Given the description of an element on the screen output the (x, y) to click on. 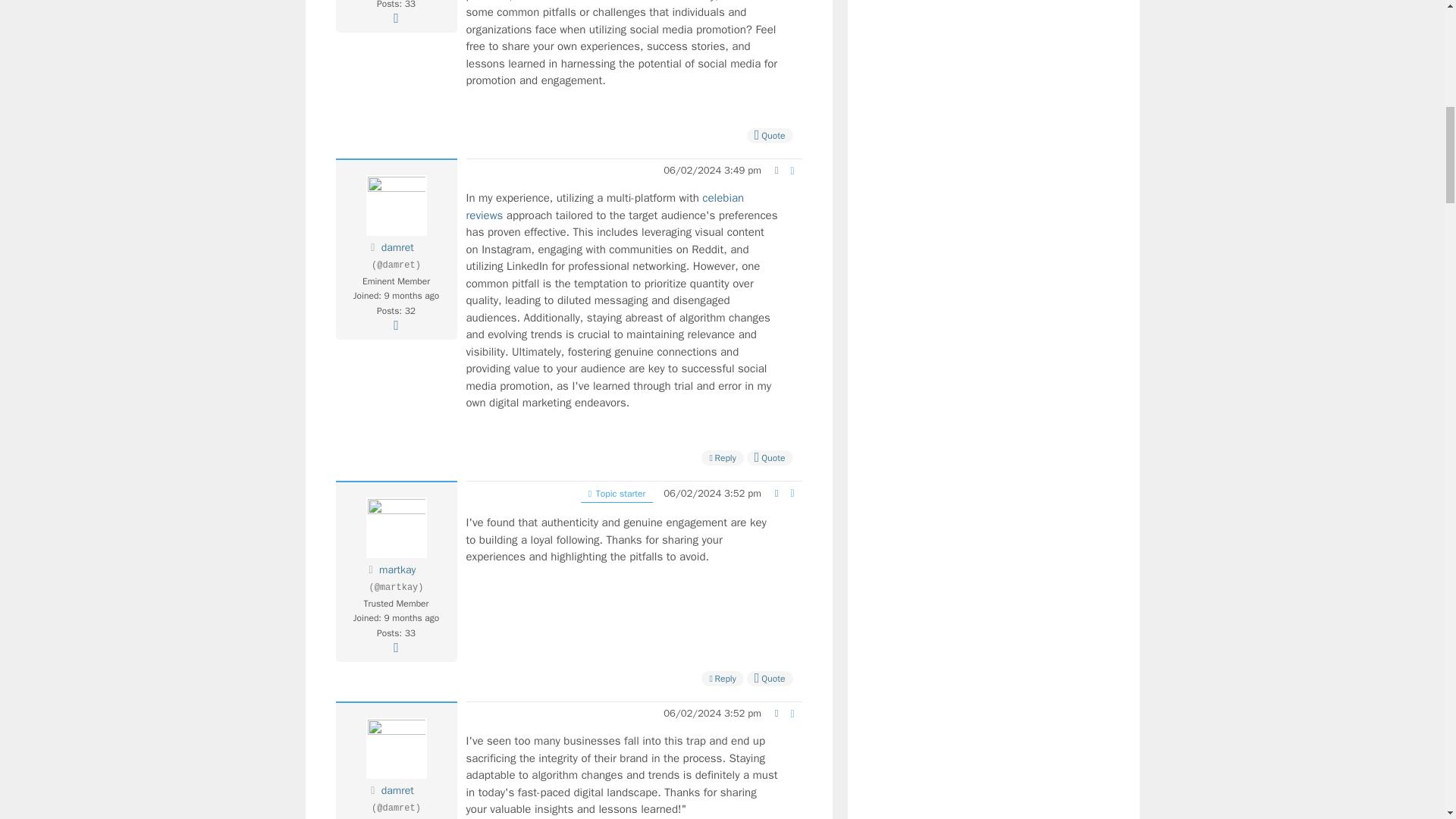
More (396, 18)
